Given the description of an element on the screen output the (x, y) to click on. 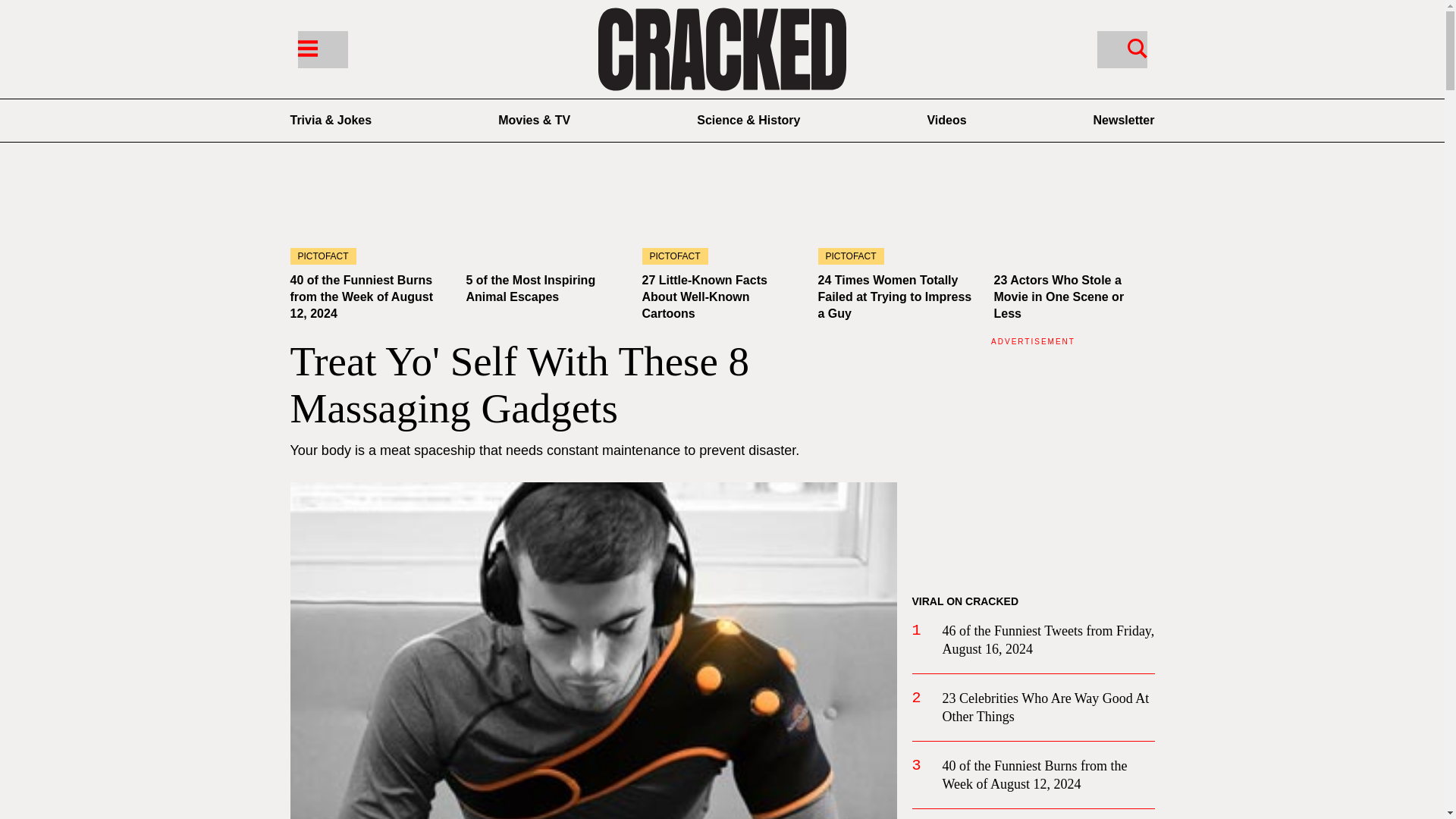
40 of the Funniest Burns from the Week of August 12, 2024 (369, 219)
Menu (307, 47)
Videos (946, 119)
Menu (322, 48)
5 of the Most Inspiring Animal Escapes (545, 219)
PICTOFACT (722, 219)
27 Little-Known Facts About Well-Known Cartoons (704, 296)
Newsletter (1123, 119)
Videos (946, 119)
PICTOFACT (897, 219)
